Given the description of an element on the screen output the (x, y) to click on. 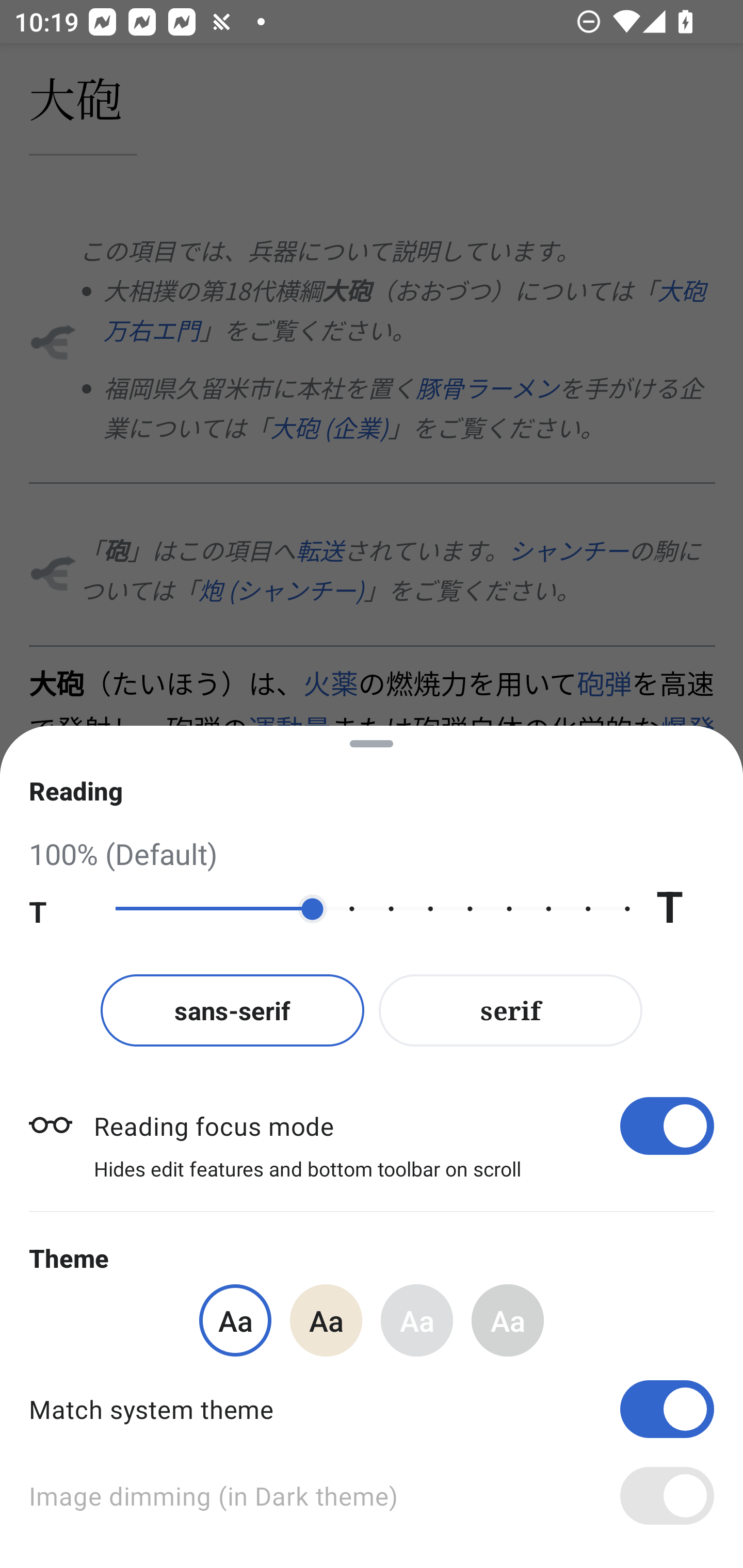
T Decrease text size (57, 909)
T Increase text size (685, 909)
sans-serif (232, 1010)
serif (510, 1010)
Reading focus mode (403, 1125)
Aa (325, 1320)
Aa (416, 1320)
Aa (507, 1320)
Match system theme (371, 1408)
Image dimming (in Dark theme) (371, 1495)
